Given the description of an element on the screen output the (x, y) to click on. 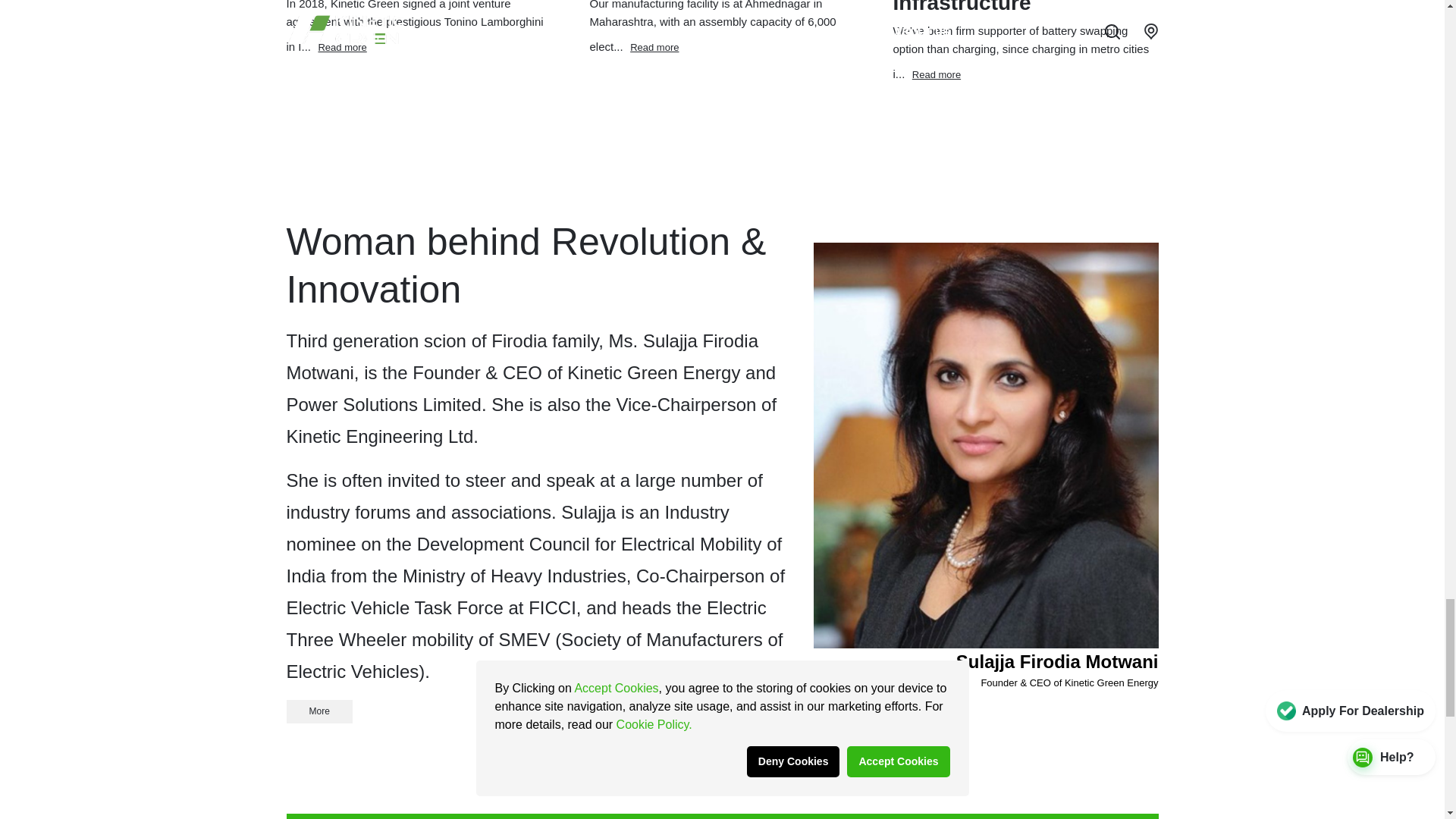
Read more (341, 45)
Read more (654, 45)
Read more (936, 73)
More (319, 711)
